Given the description of an element on the screen output the (x, y) to click on. 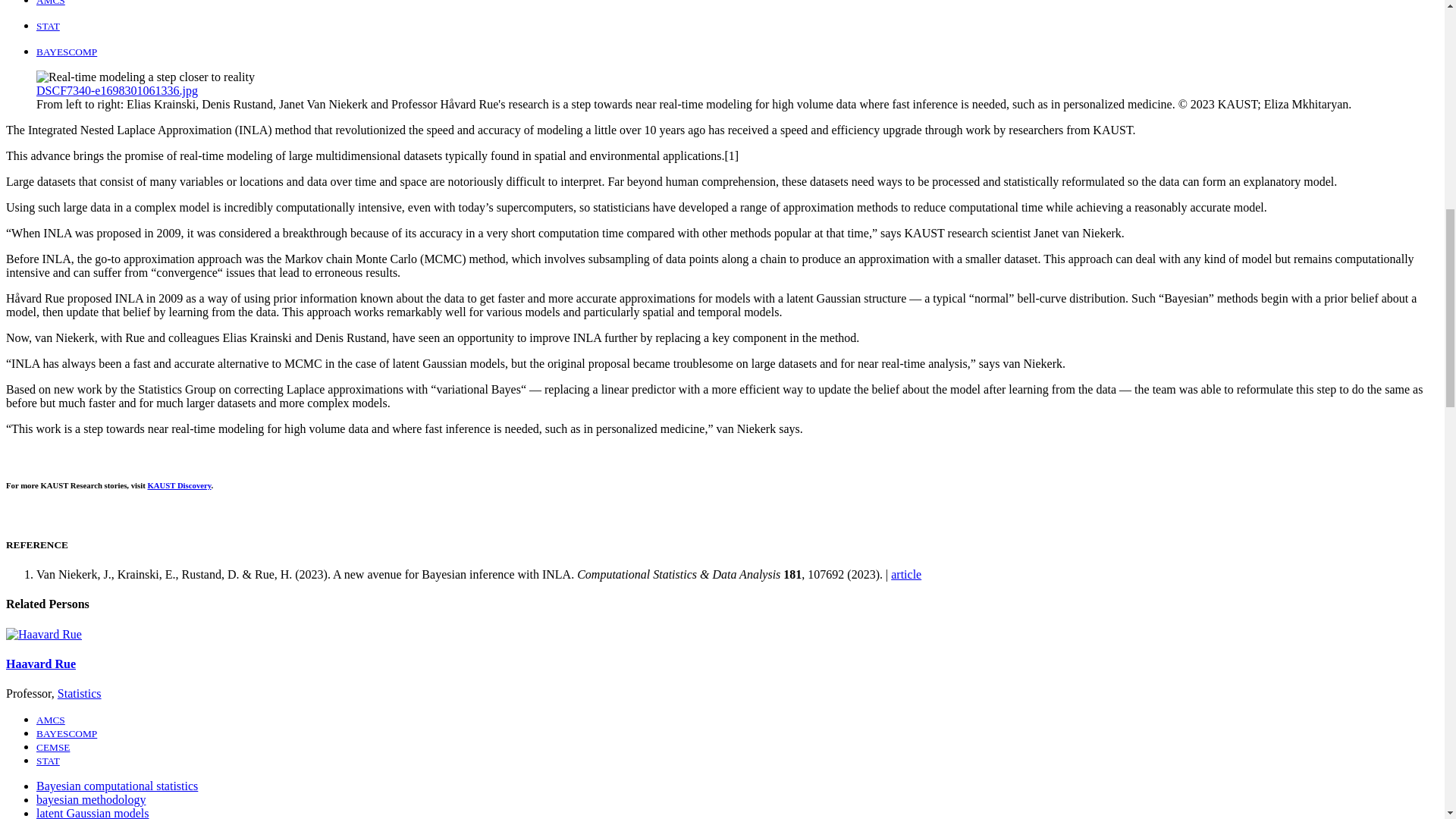
AMCS (50, 2)
BAYESCOMP (66, 51)
STAT (47, 25)
